Given the description of an element on the screen output the (x, y) to click on. 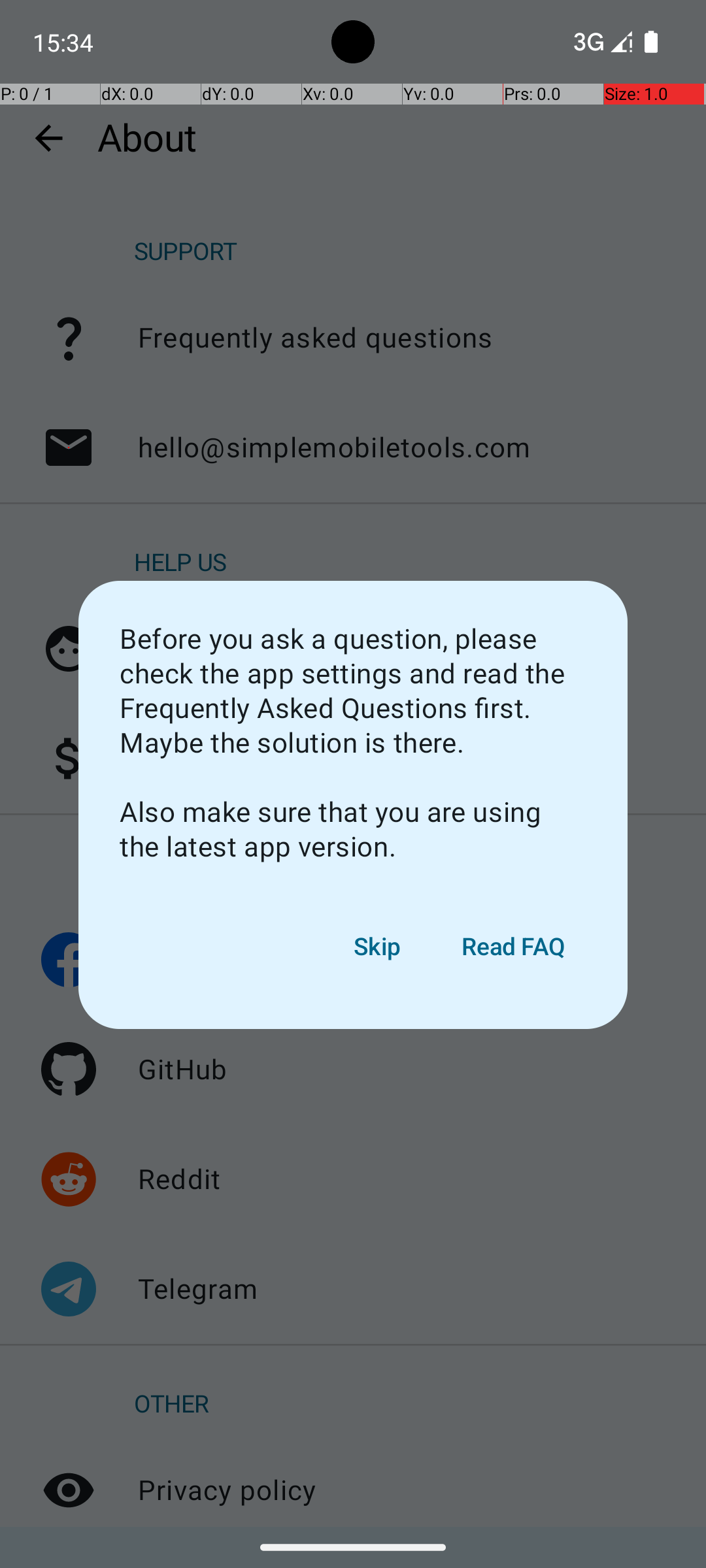
Before you ask a question, please check the app settings and read the Frequently Asked Questions first. Maybe the solution is there.

Also make sure that you are using the latest app version. Element type: android.widget.TextView (352, 742)
Skip Element type: android.widget.TextView (377, 946)
Read FAQ Element type: android.widget.TextView (513, 946)
